Given the description of an element on the screen output the (x, y) to click on. 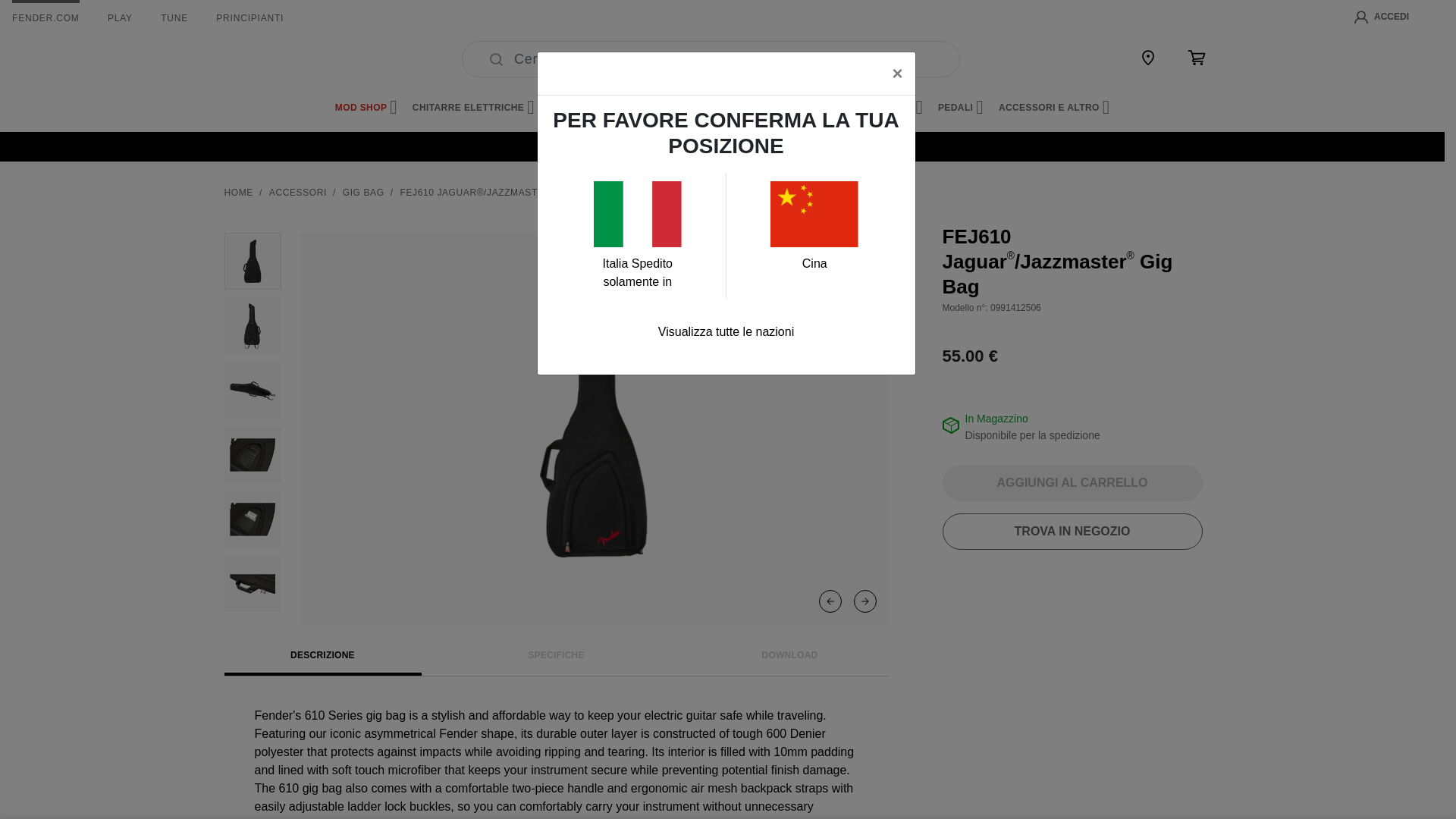
MOD SHOP (365, 107)
TUNE (173, 18)
Fender Home (261, 58)
PRINCIPIANTI (249, 18)
CHITARRE ELETTRICHE (473, 107)
PLAY (119, 18)
ACCEDI (1381, 17)
FENDER.COM (45, 18)
